Given the description of an element on the screen output the (x, y) to click on. 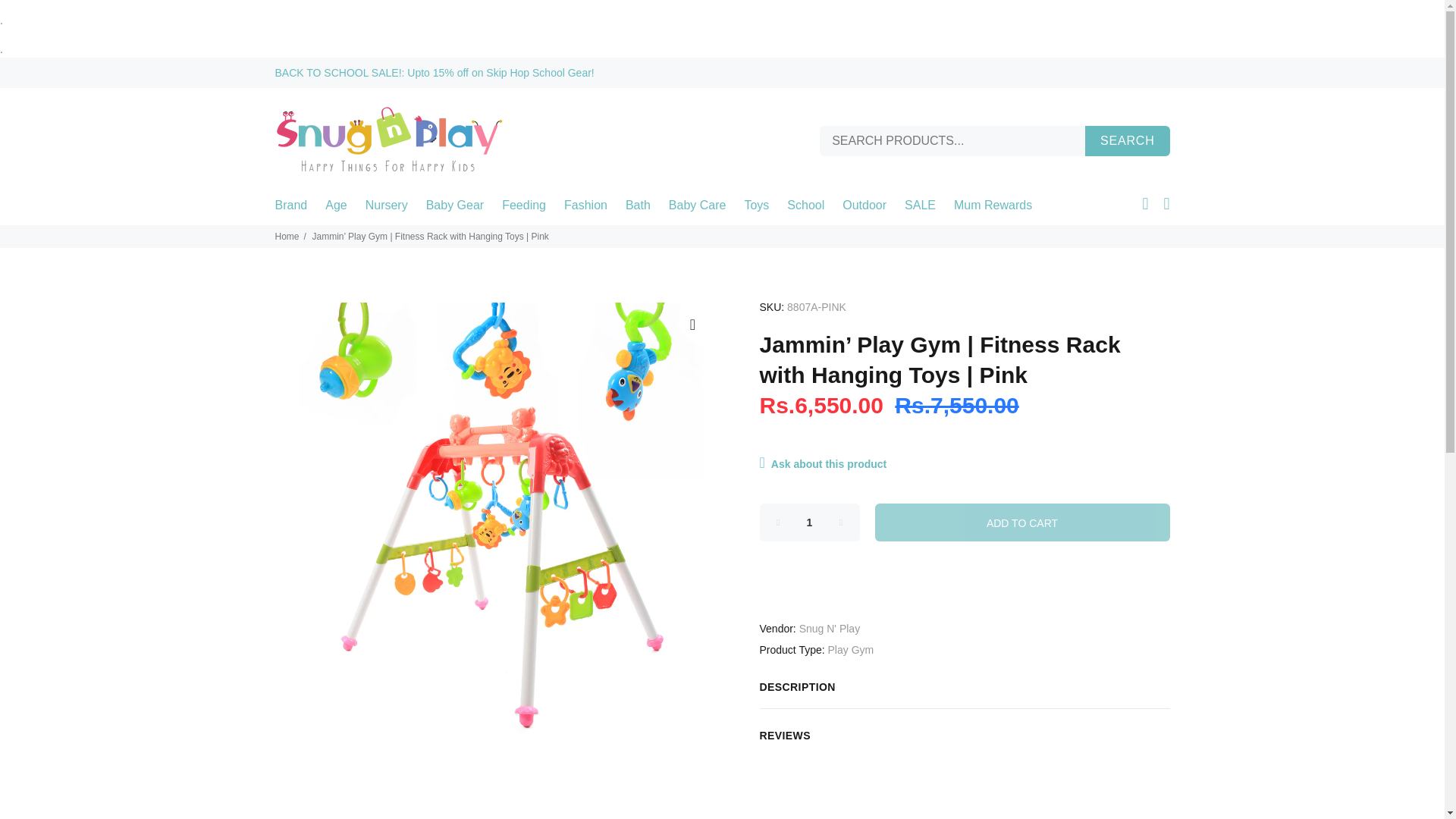
1 (810, 522)
